Given the description of an element on the screen output the (x, y) to click on. 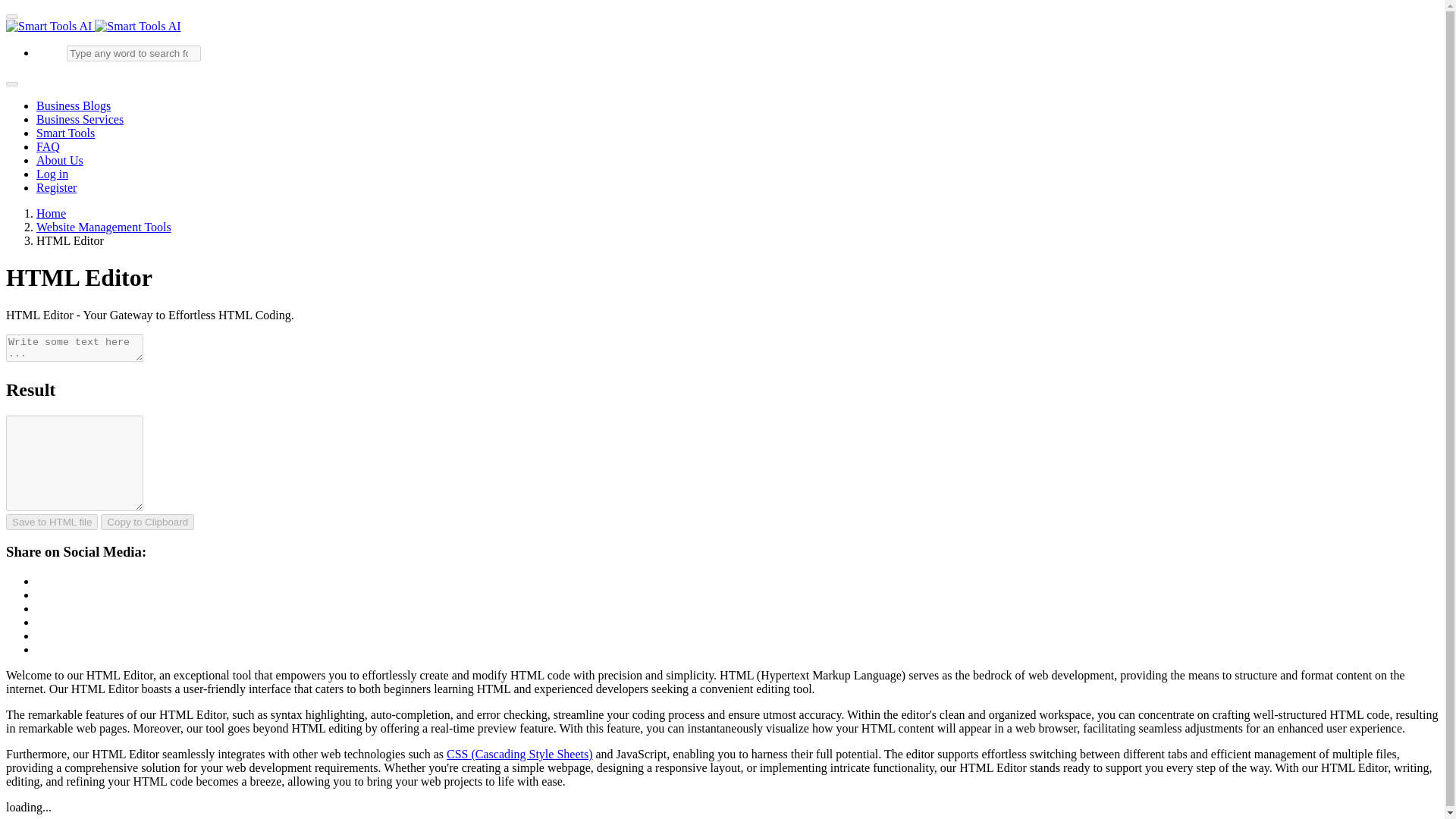
FAQ (47, 146)
Save to HTML file (51, 521)
Copy to Clipboard (146, 521)
Register (56, 187)
Copy to Clipboard (146, 521)
Website Management Tools (103, 226)
Smart Tools (65, 132)
Business Services (79, 119)
About Us (59, 160)
Home (50, 213)
Log in (52, 173)
Business Blogs (73, 105)
